Given the description of an element on the screen output the (x, y) to click on. 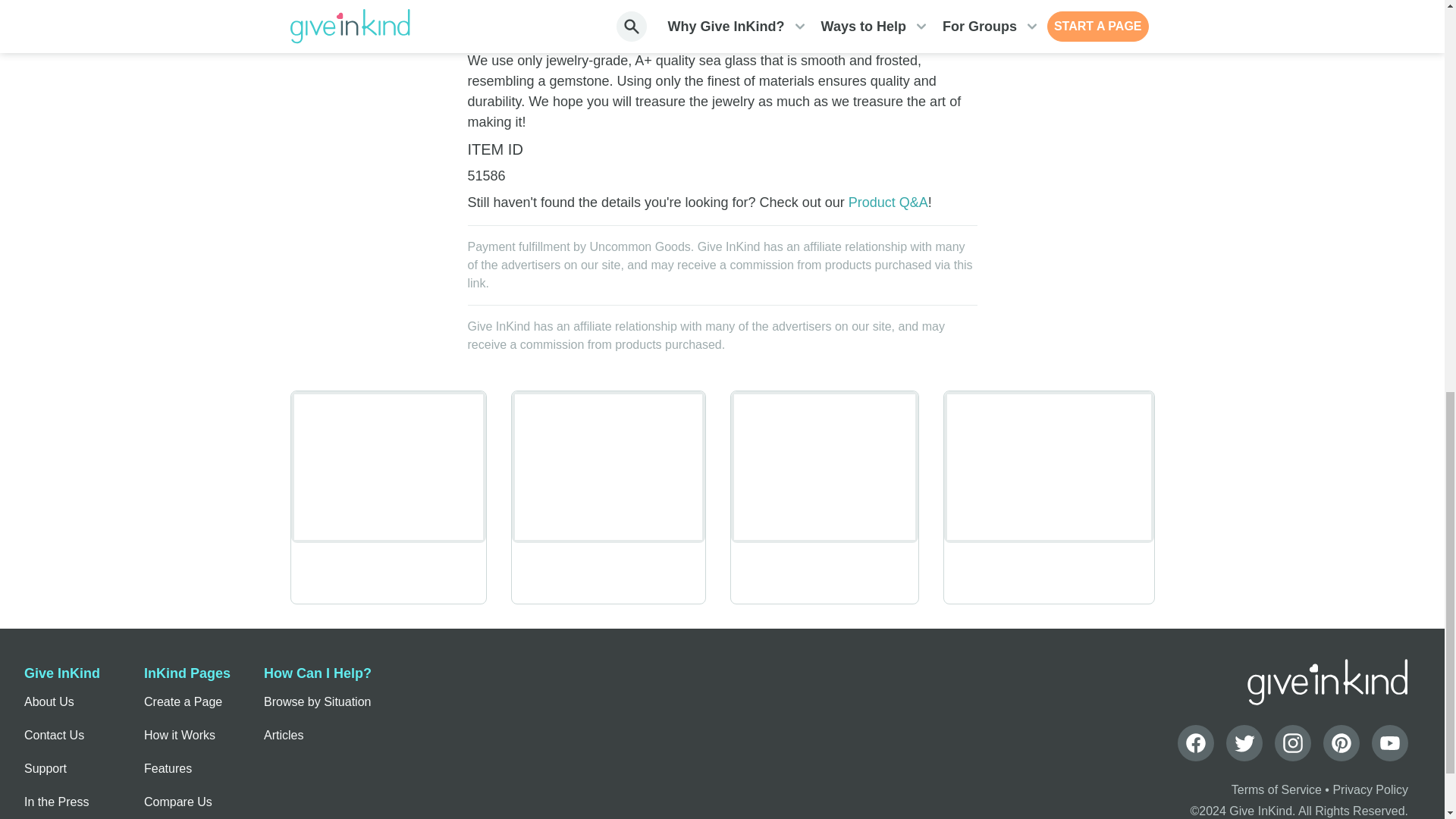
About Us (49, 701)
Support (45, 768)
In the Press (56, 801)
Contact Us (54, 735)
How it Works (179, 735)
Compare Us (178, 801)
Create a Page (183, 701)
Browse by Situation (317, 701)
Features (168, 768)
Articles (282, 735)
